Given the description of an element on the screen output the (x, y) to click on. 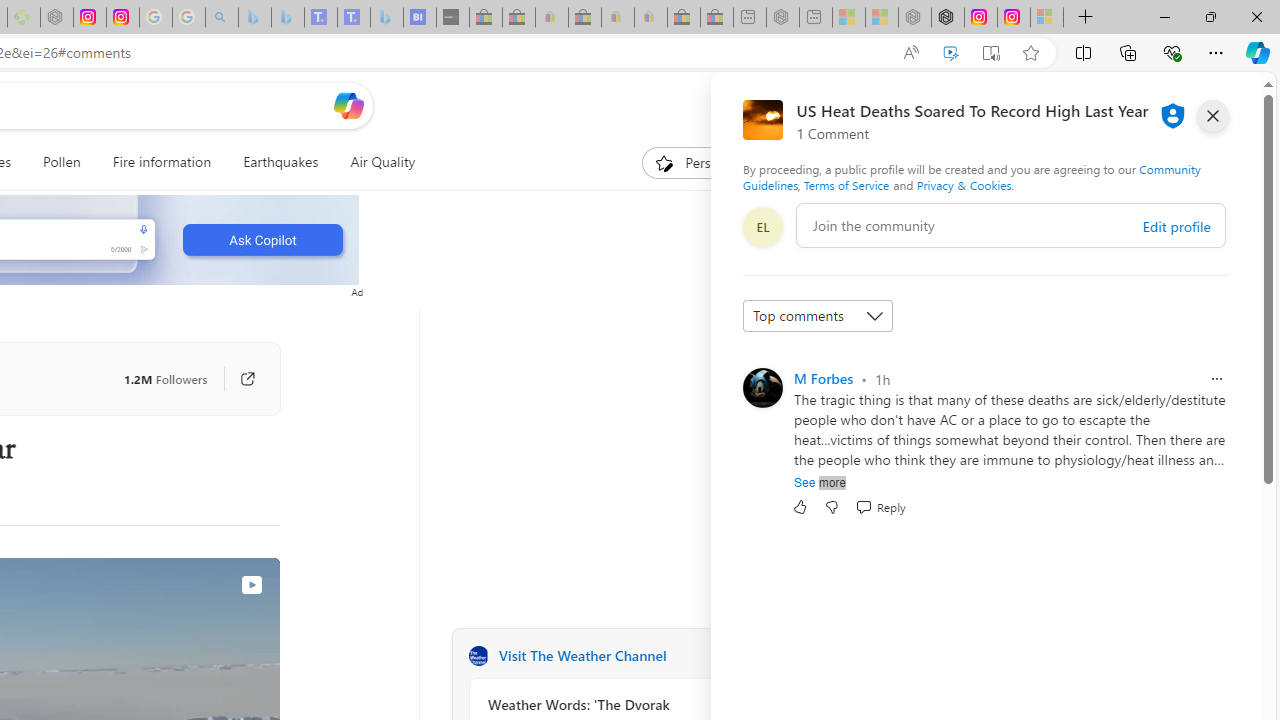
Nordace - Summer Adventures 2024 (947, 17)
Press Room - eBay Inc. - Sleeping (684, 17)
View on Watch View on Watch (205, 584)
Fire information (161, 162)
Visit The Weather Channel website (726, 655)
Microsoft Bing Travel - Shangri-La Hotel Bangkok - Sleeping (387, 17)
Sign in to your Microsoft account - Sleeping (1046, 17)
Community Guidelines (971, 176)
